Given the description of an element on the screen output the (x, y) to click on. 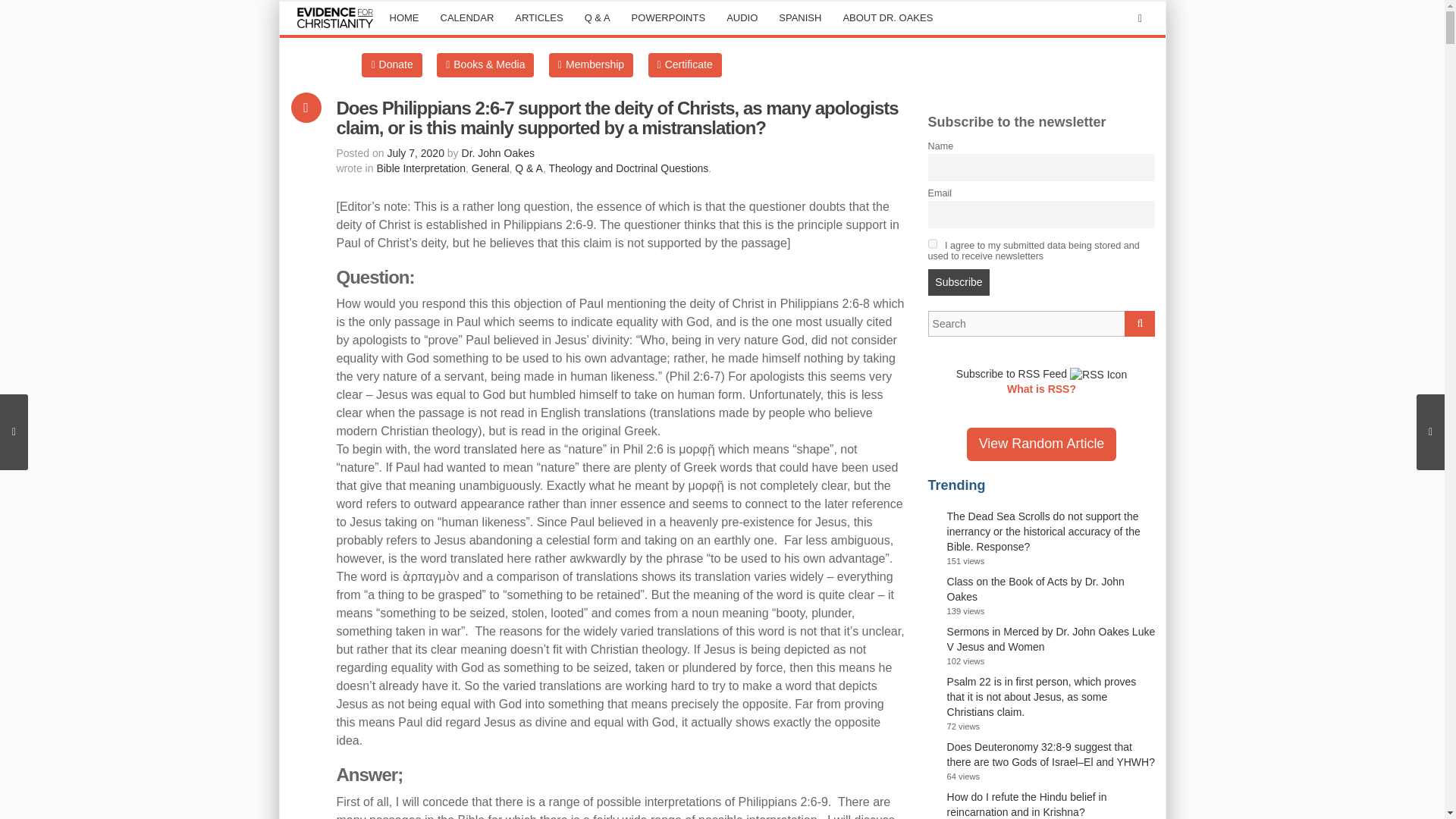
home (403, 18)
CALENDAR (466, 18)
on (932, 243)
ARTICLES (538, 18)
Subscribe (959, 282)
HOME (403, 18)
logo (334, 17)
